Given the description of an element on the screen output the (x, y) to click on. 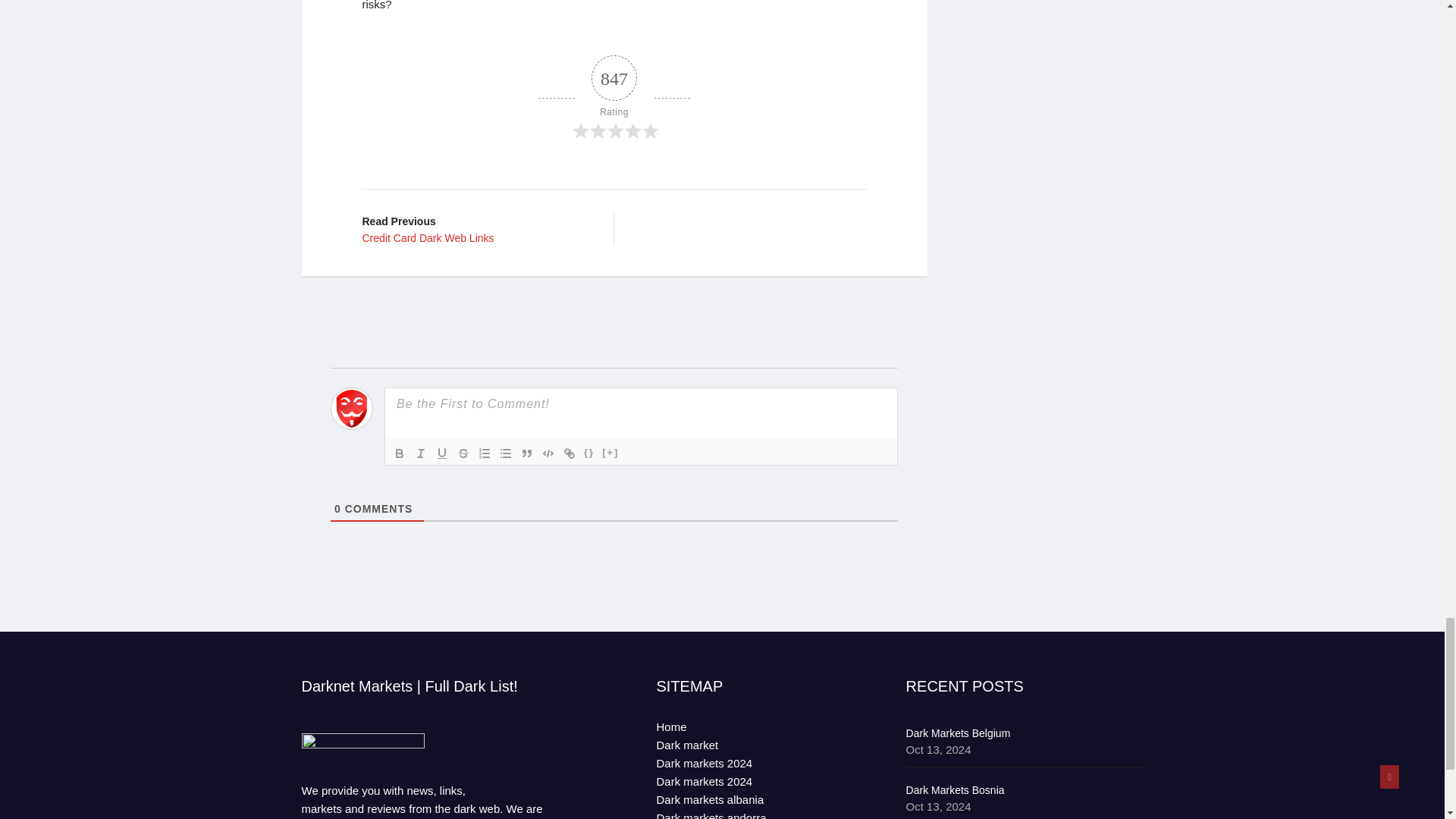
Spoiler (610, 453)
Rating (614, 97)
Underline (441, 453)
Link (569, 453)
Bold (399, 453)
Strike (463, 453)
Code Block (548, 453)
Blockquote (476, 228)
Unordered List (526, 453)
Ordered List (505, 453)
Source Code (484, 453)
Italic (588, 453)
